Given the description of an element on the screen output the (x, y) to click on. 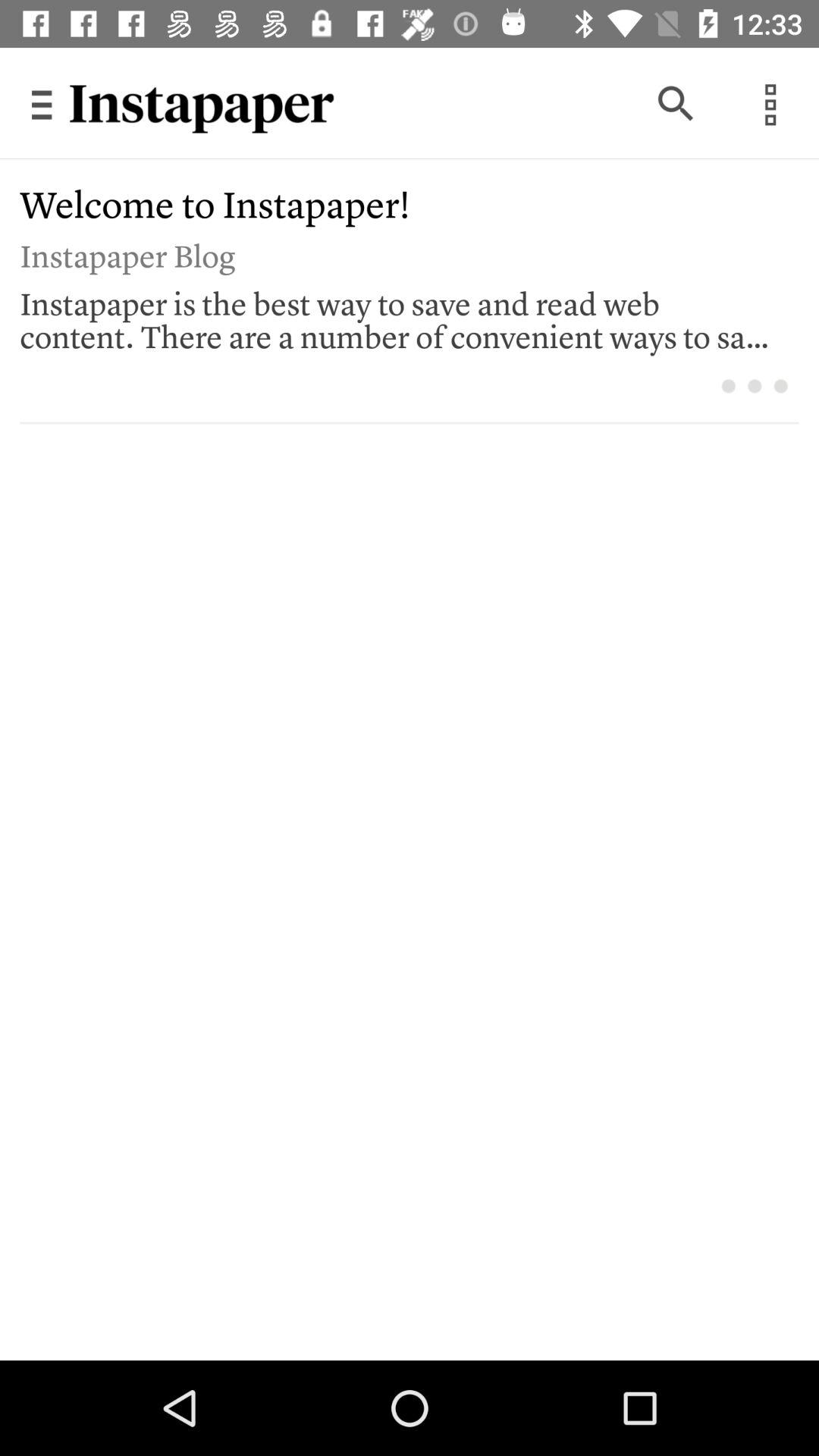
launch icon above the instapaper is the icon (399, 253)
